Given the description of an element on the screen output the (x, y) to click on. 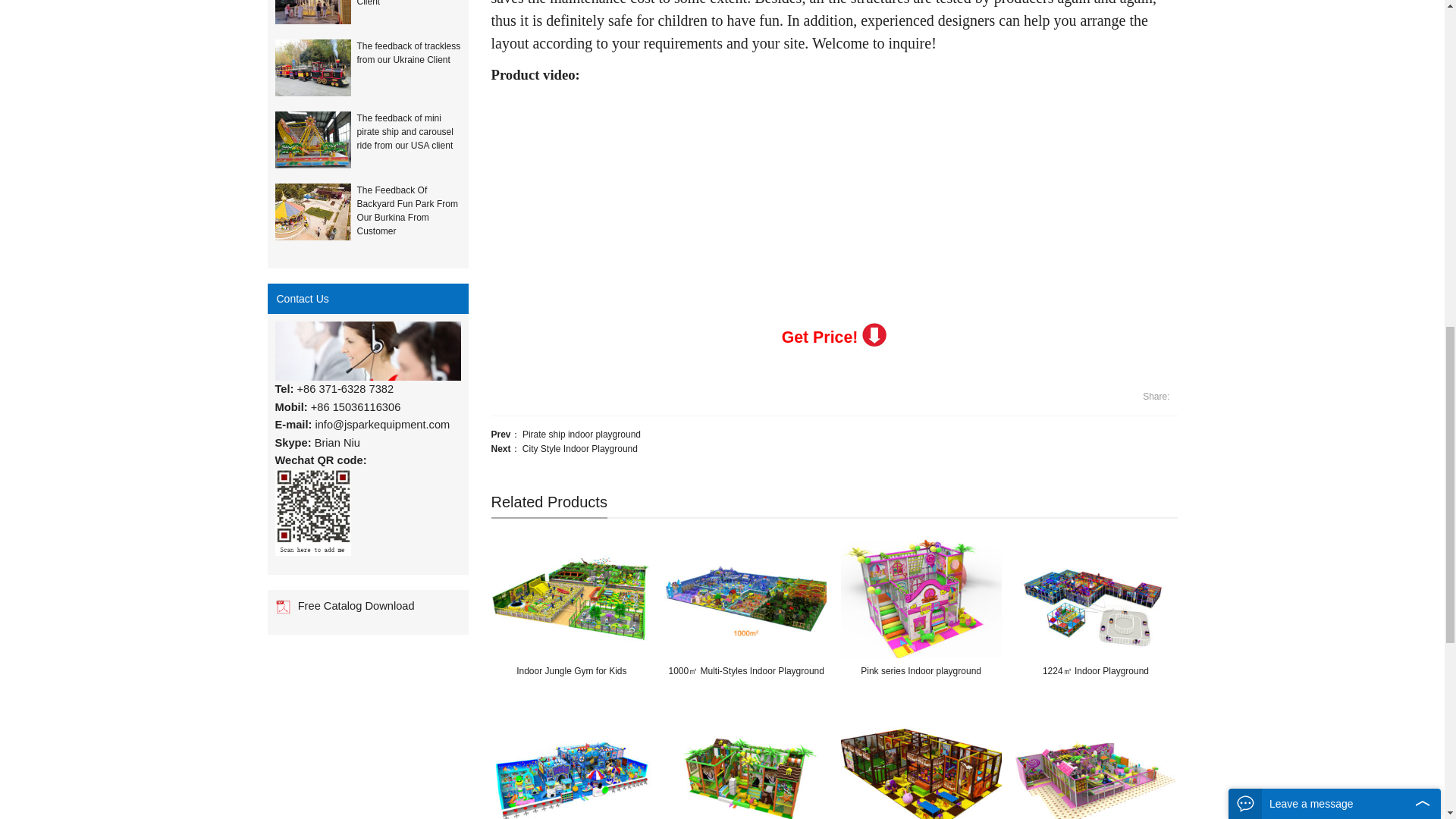
The Feedback Of Carousel Ride From Our Client (315, 12)
Indoor Jungle Gym for Kids (572, 597)
Toddler Indoor Playground (921, 766)
Indoor Playground Equipment for Sale (1095, 766)
Get Price! (820, 337)
Ocean Adventure Playground Equipment (572, 766)
Kids Play Center (746, 766)
Pink series Indoor playground (921, 597)
